Given the description of an element on the screen output the (x, y) to click on. 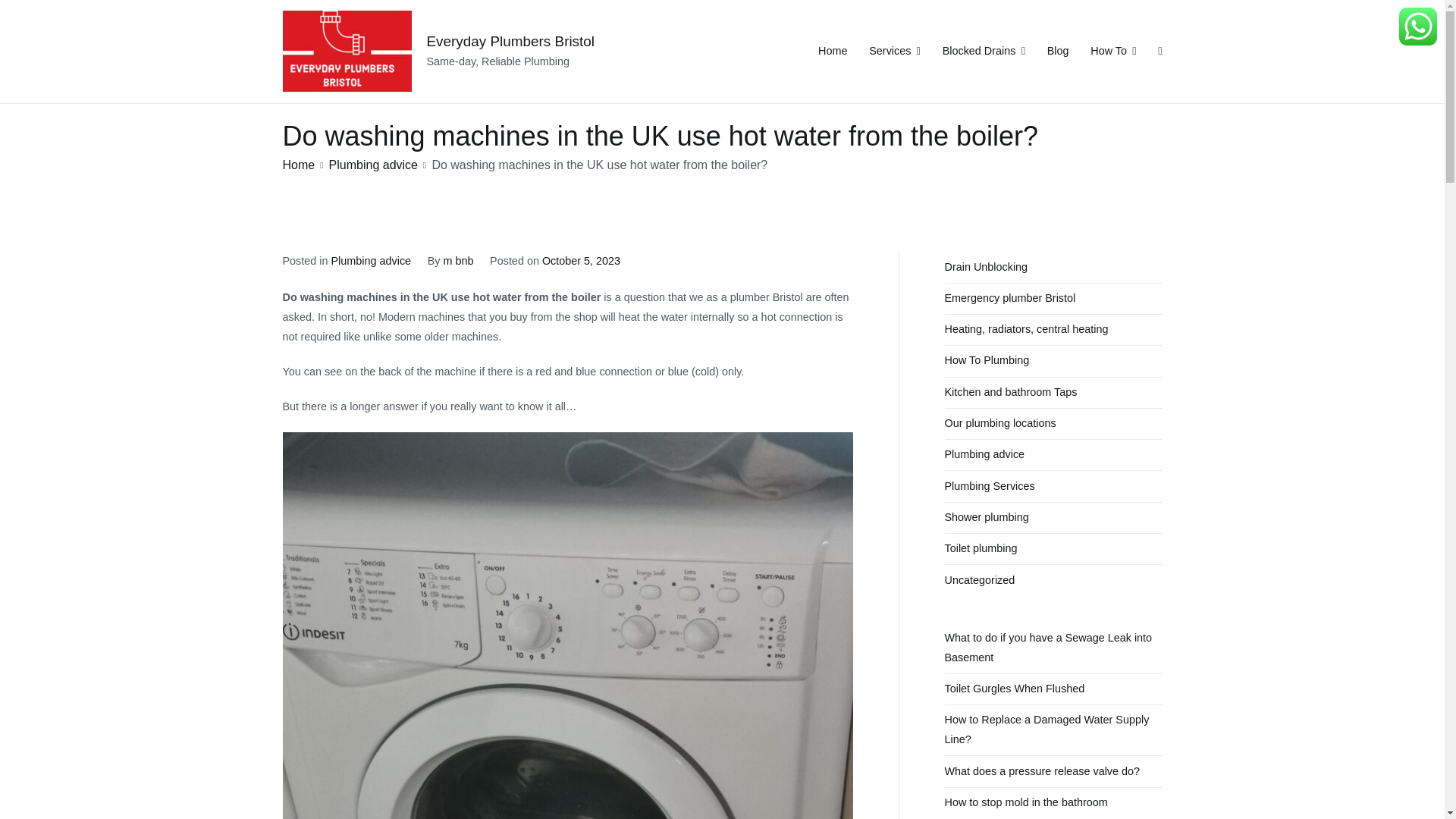
Blog (1057, 51)
Blocked Drains (983, 51)
How To (1112, 51)
Services (894, 51)
Everyday Plumbers Bristol (510, 41)
Home (832, 51)
